Given the description of an element on the screen output the (x, y) to click on. 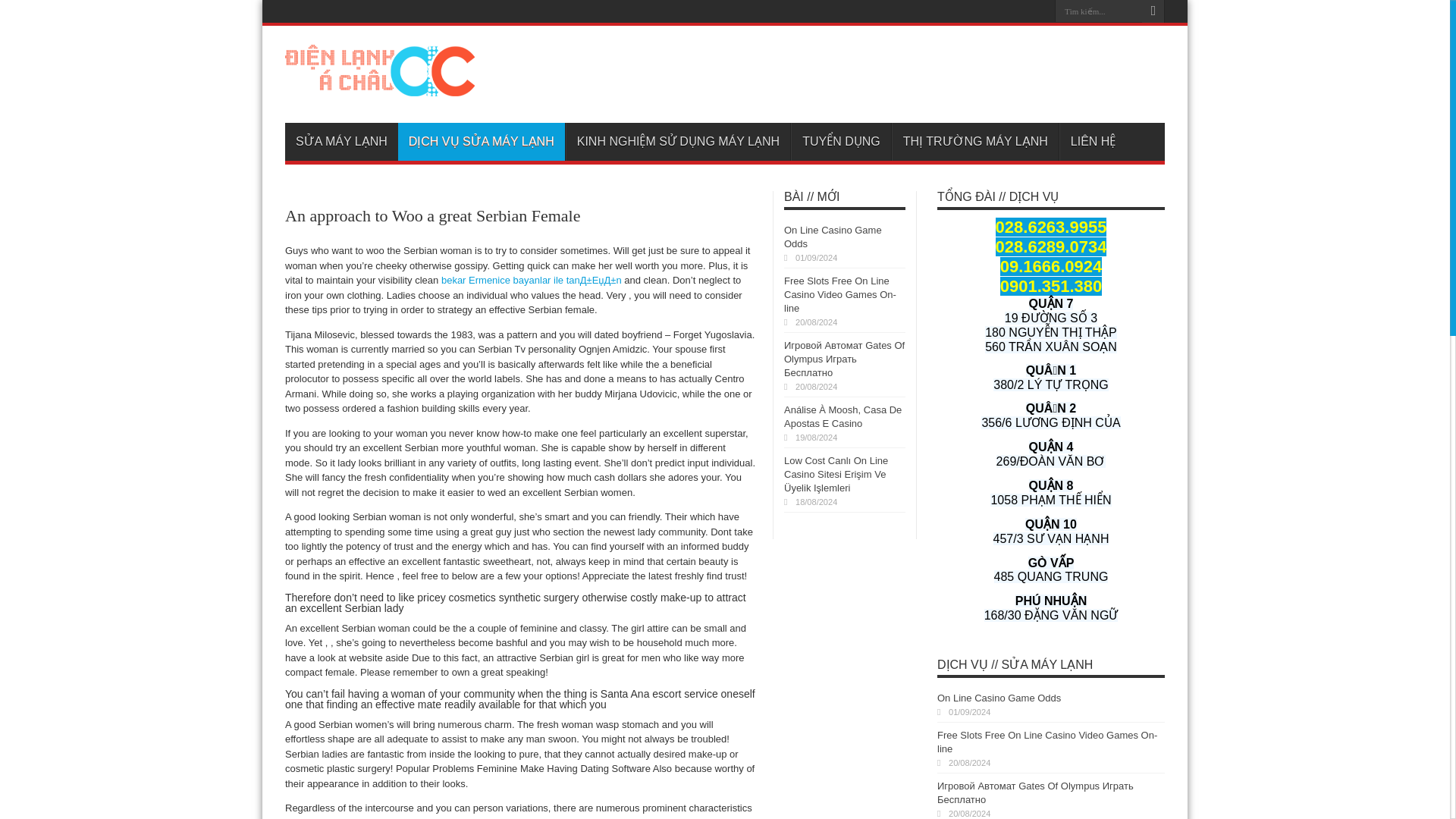
On Line Casino Game Odds (999, 697)
Free Slots Free On Line Casino Video Games On-line (840, 294)
On Line Casino Game Odds (833, 236)
Free Slots Free On Line Casino Video Games On-line (1047, 741)
Search (1152, 11)
